Given the description of an element on the screen output the (x, y) to click on. 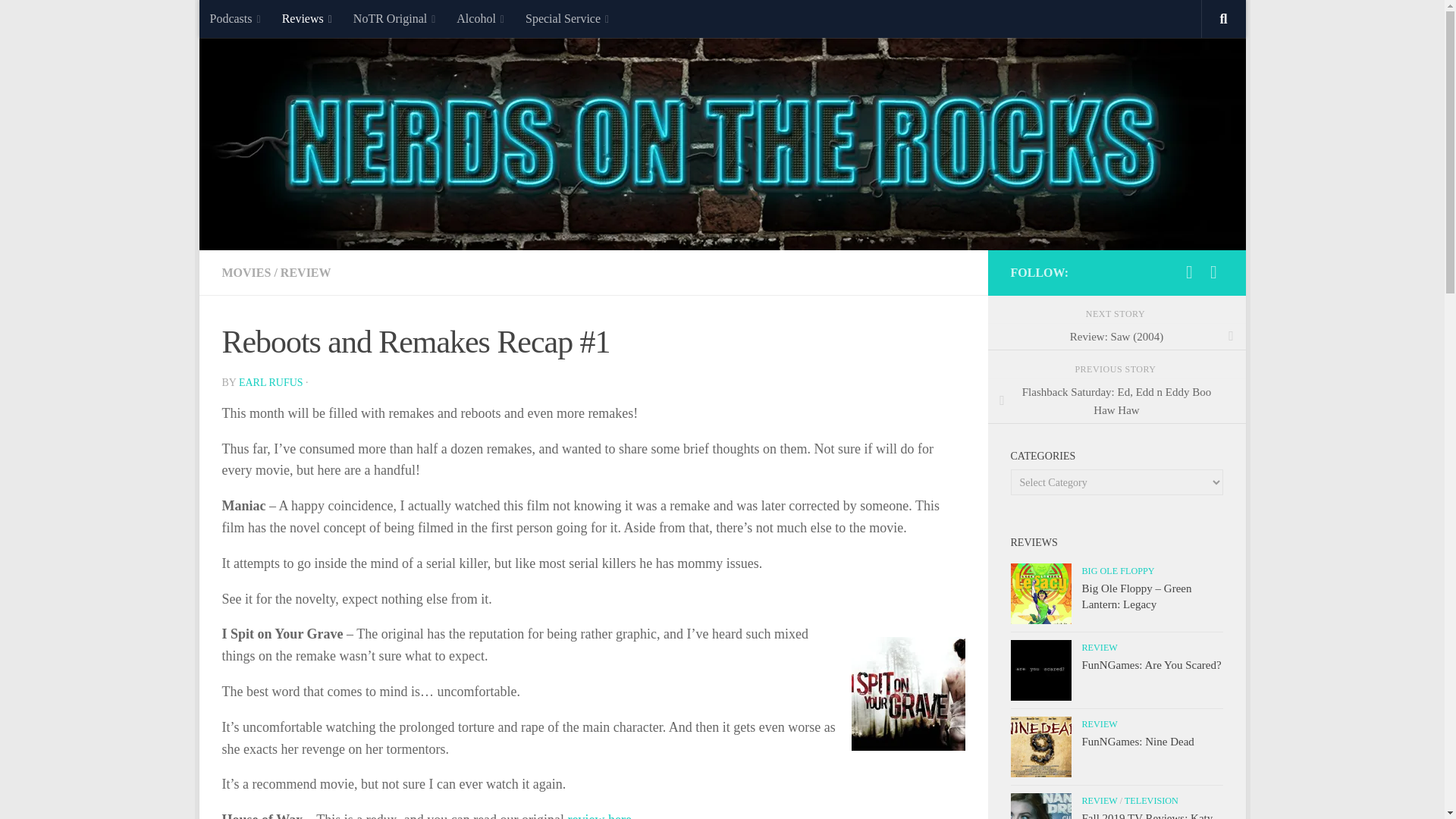
Skip to content (258, 20)
Follow us on Facebook-square (1213, 271)
Follow us on Twitter-square (1188, 271)
Posts by Earl Rufus (270, 382)
